Given the description of an element on the screen output the (x, y) to click on. 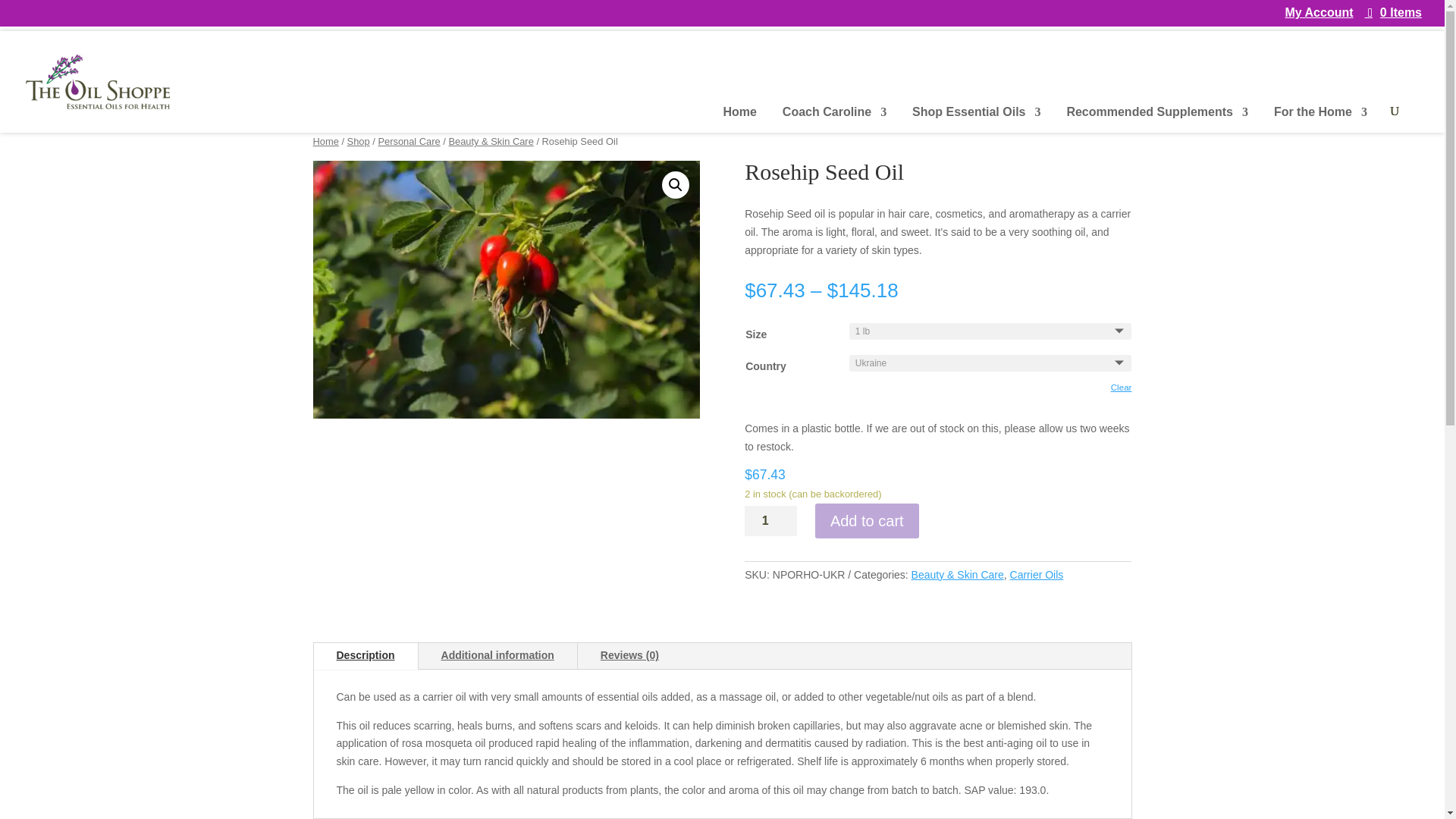
Home (740, 119)
Rosehip seed (505, 289)
For the Home (1320, 119)
0 Items (1393, 11)
Shop Essential Oils (976, 119)
My Account (1318, 17)
Coach Caroline (834, 119)
Recommended Supplements (1156, 119)
1 (770, 521)
